Given the description of an element on the screen output the (x, y) to click on. 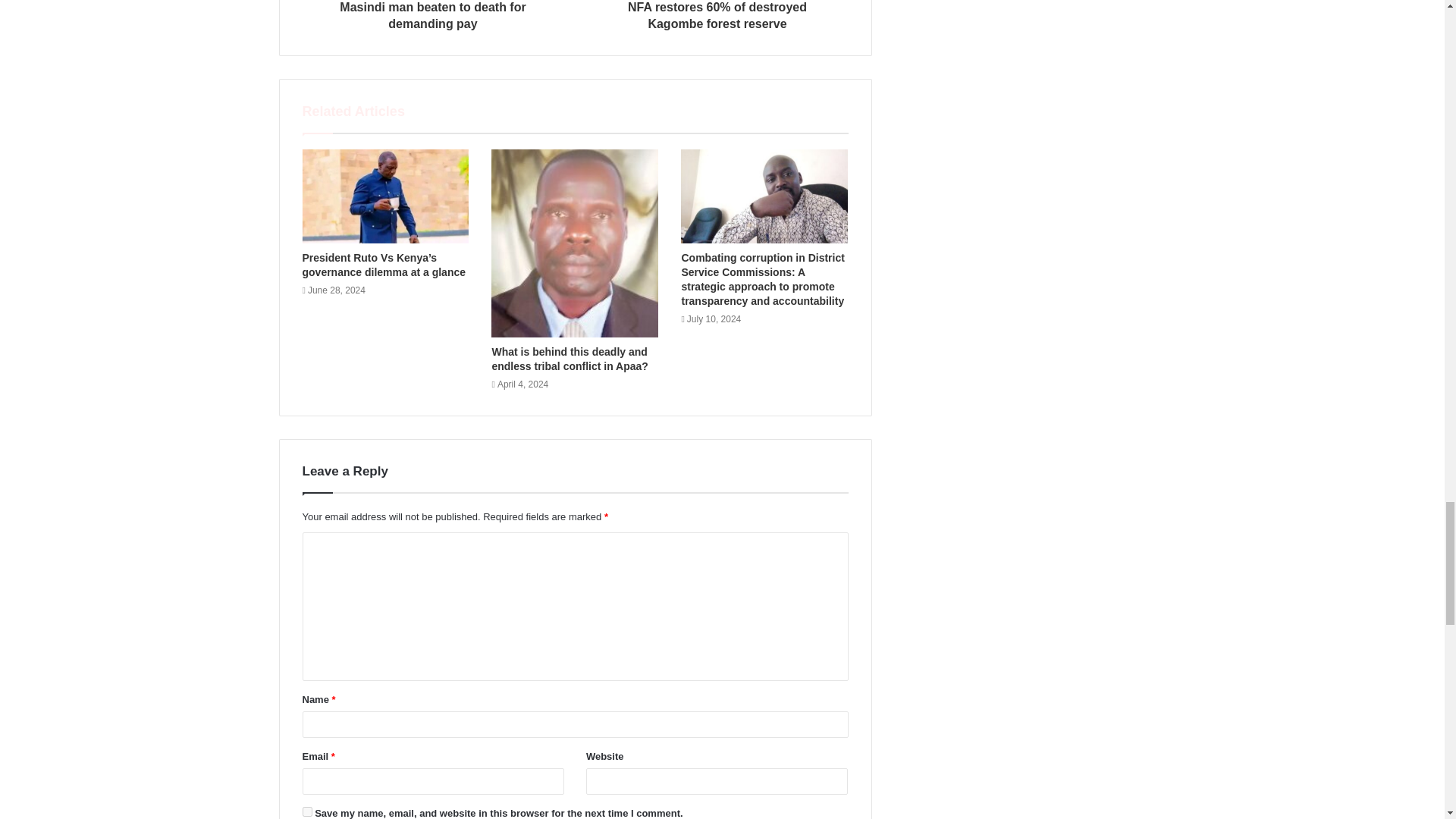
yes (306, 811)
